Given the description of an element on the screen output the (x, y) to click on. 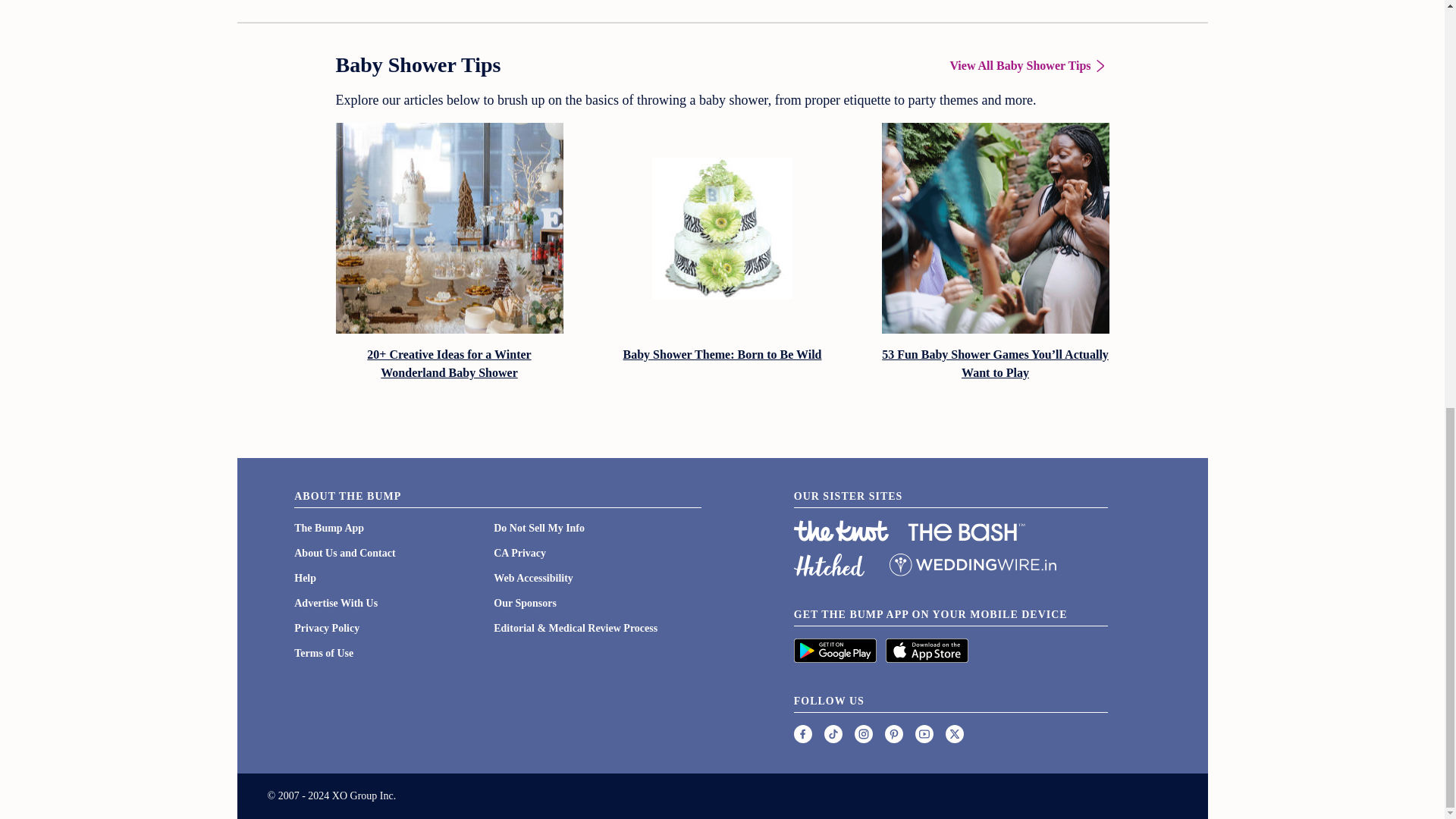
About Us and Contact (344, 552)
View All Baby Shower Tips (1028, 65)
Do Not Sell My Info (539, 527)
Terms of Use (323, 653)
The Bump App (329, 527)
Help (304, 577)
CA Privacy (519, 552)
Our Sponsors (524, 603)
Privacy Policy (326, 627)
Web Accessibility (533, 577)
Advertise With Us (335, 603)
